Given the description of an element on the screen output the (x, y) to click on. 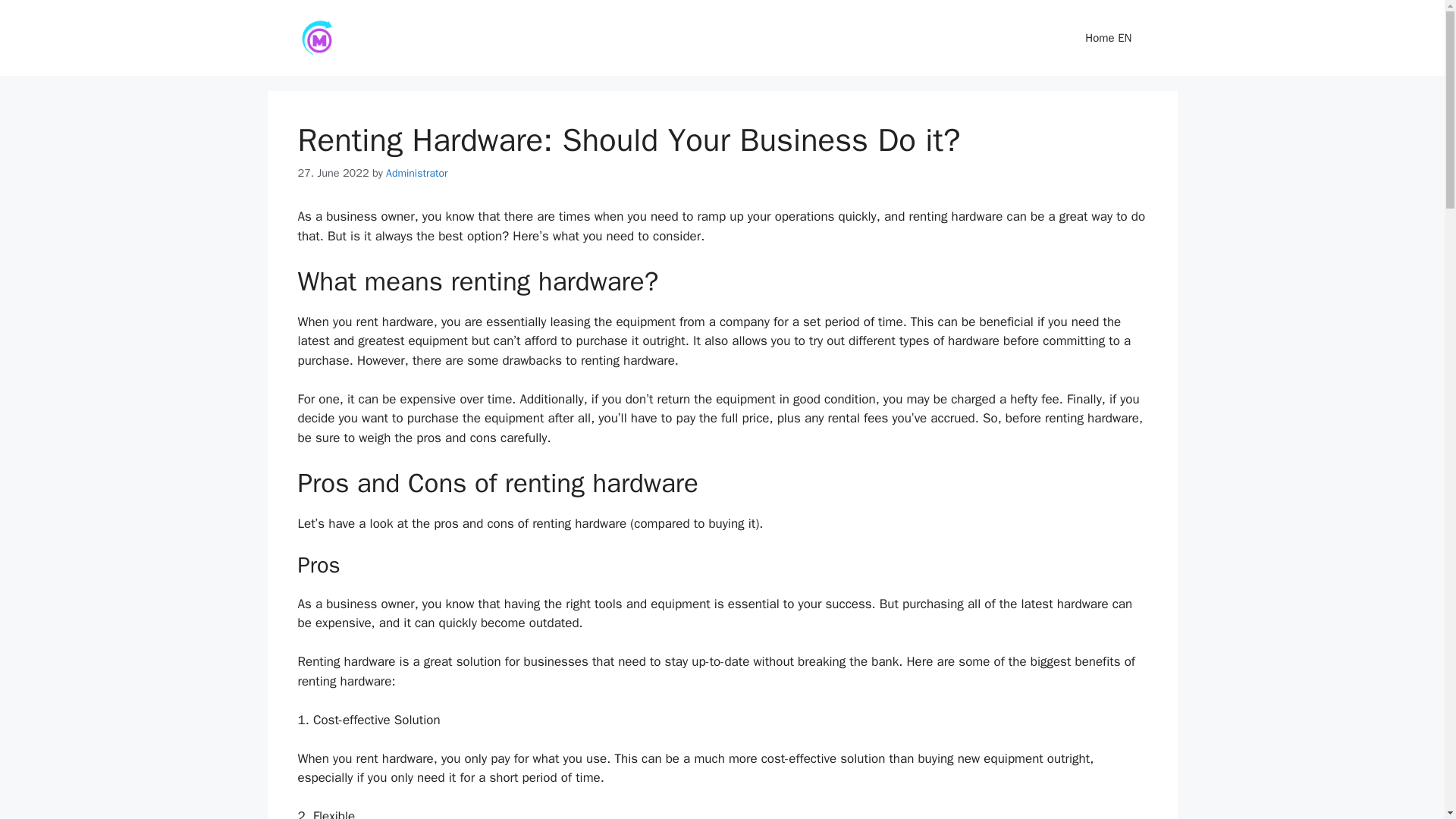
Home EN (1108, 37)
Administrator (415, 172)
View all posts by Administrator (415, 172)
